Given the description of an element on the screen output the (x, y) to click on. 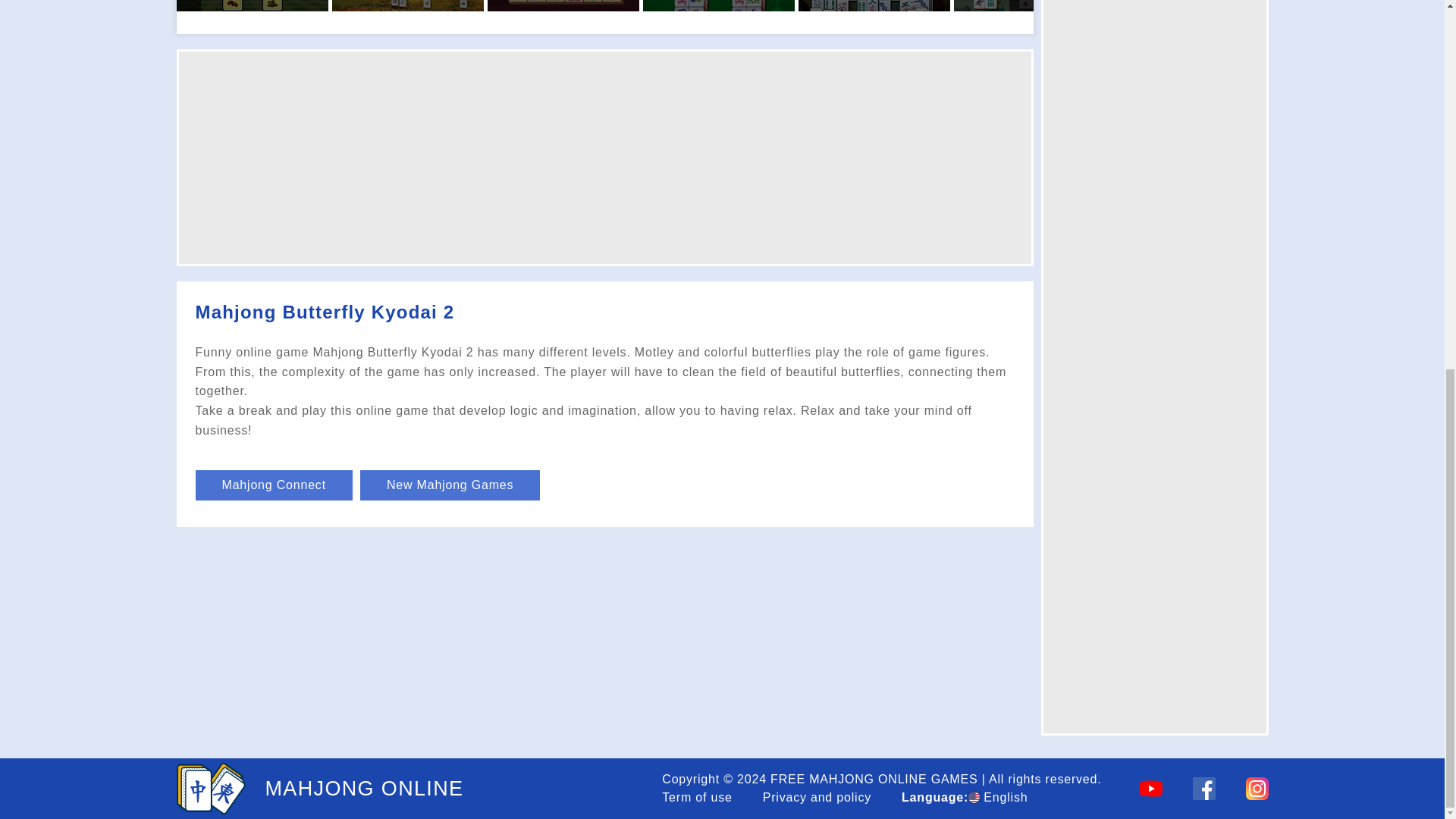
Sports Mahjong (251, 5)
Mahjong Fortuna 2 (407, 5)
Mystical Bird Link (562, 5)
Previous (188, 5)
Daily mahjong (718, 5)
Elite Mahjong (1029, 5)
Rainbow Mahjong (873, 5)
